Given the description of an element on the screen output the (x, y) to click on. 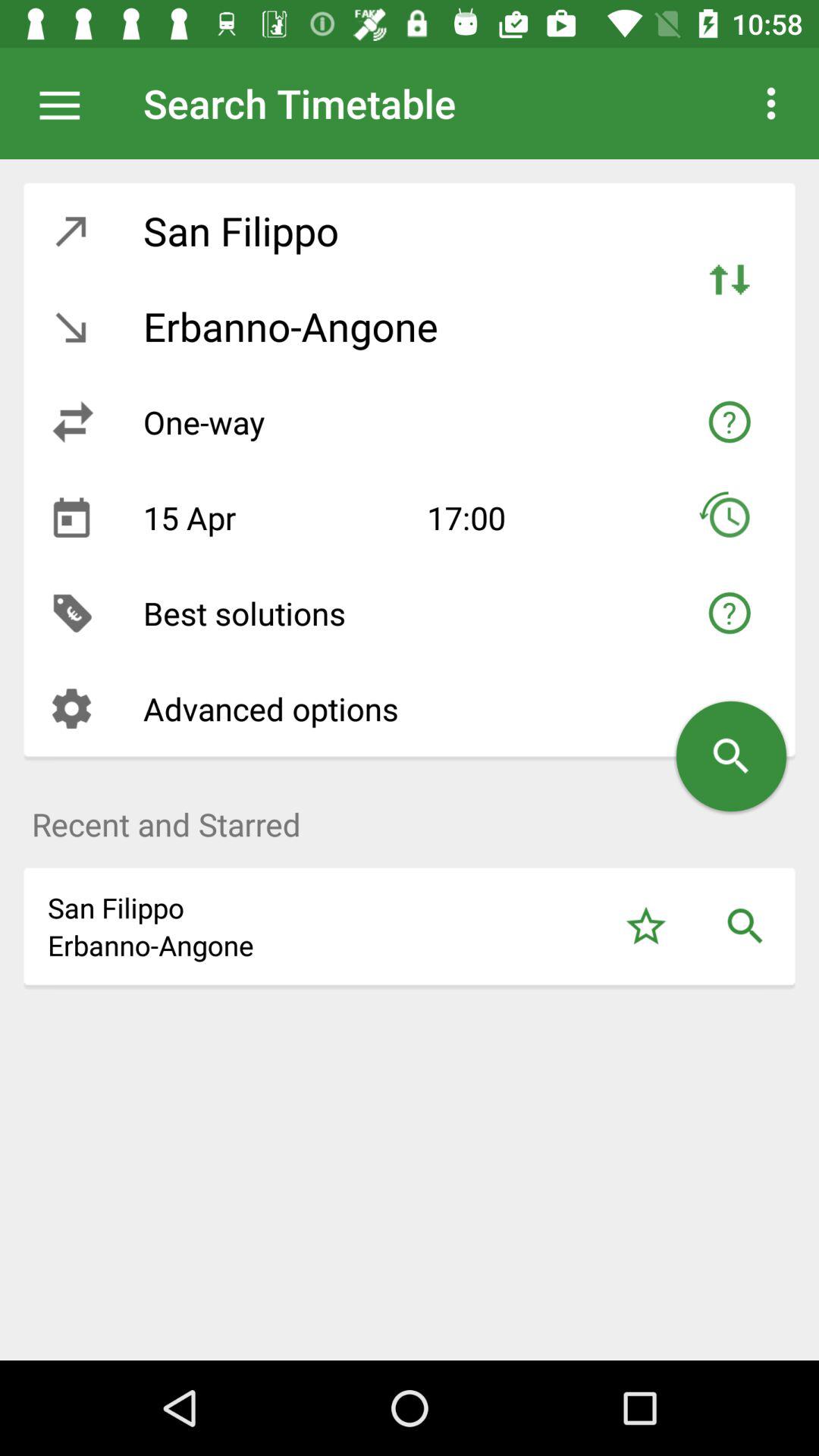
select item to the right of the san filippo item (645, 926)
